Given the description of an element on the screen output the (x, y) to click on. 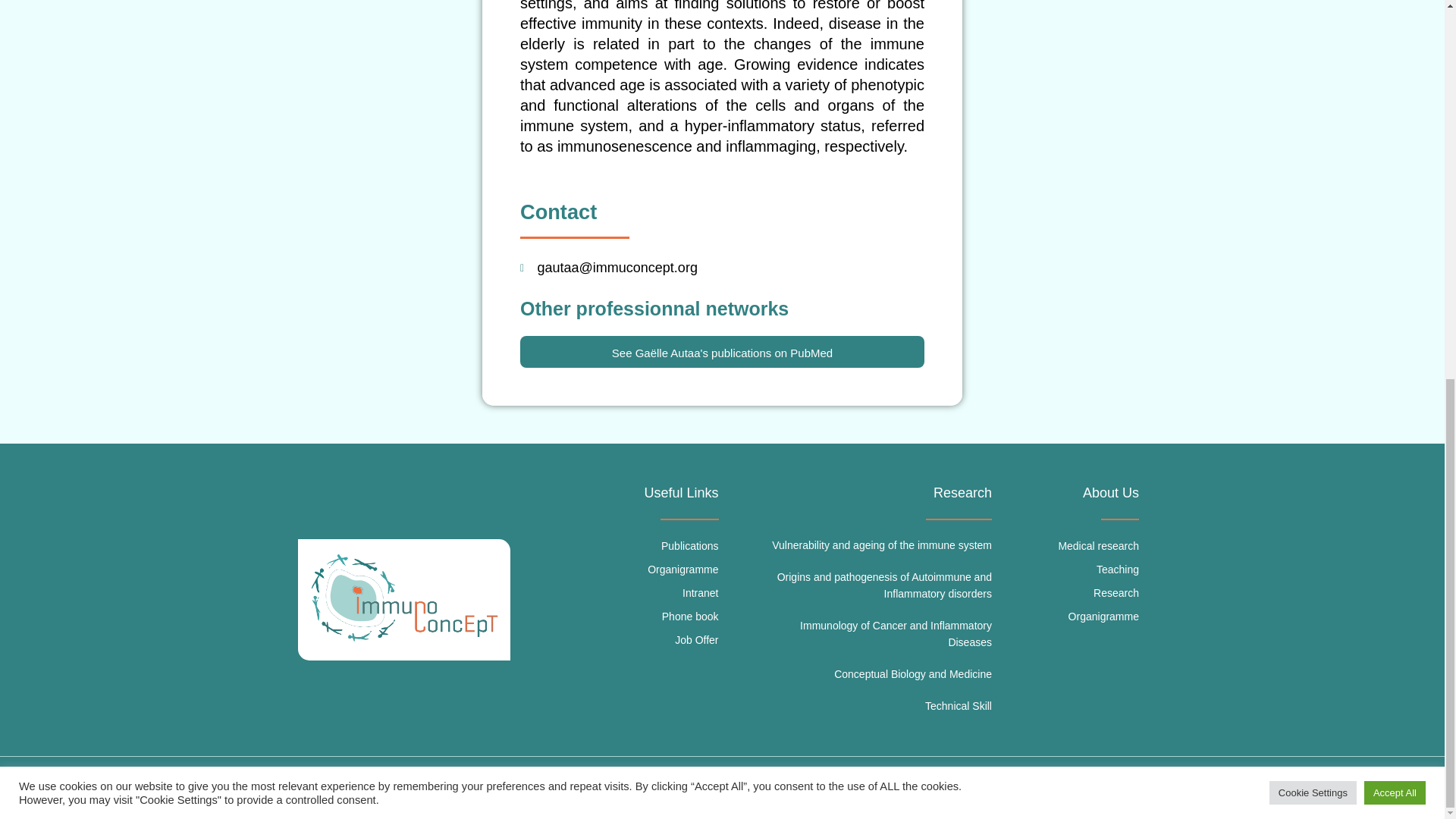
Medical research (1072, 546)
Vulnerability and ageing of the immune system (881, 544)
Phone book (616, 617)
Conceptual Biology and Medicine (912, 674)
Teaching (1072, 569)
Technical Skill (957, 705)
Immunology of Cancer and Inflammatory Diseases (895, 633)
Intranet (616, 593)
Organigramme (616, 569)
